Given the description of an element on the screen output the (x, y) to click on. 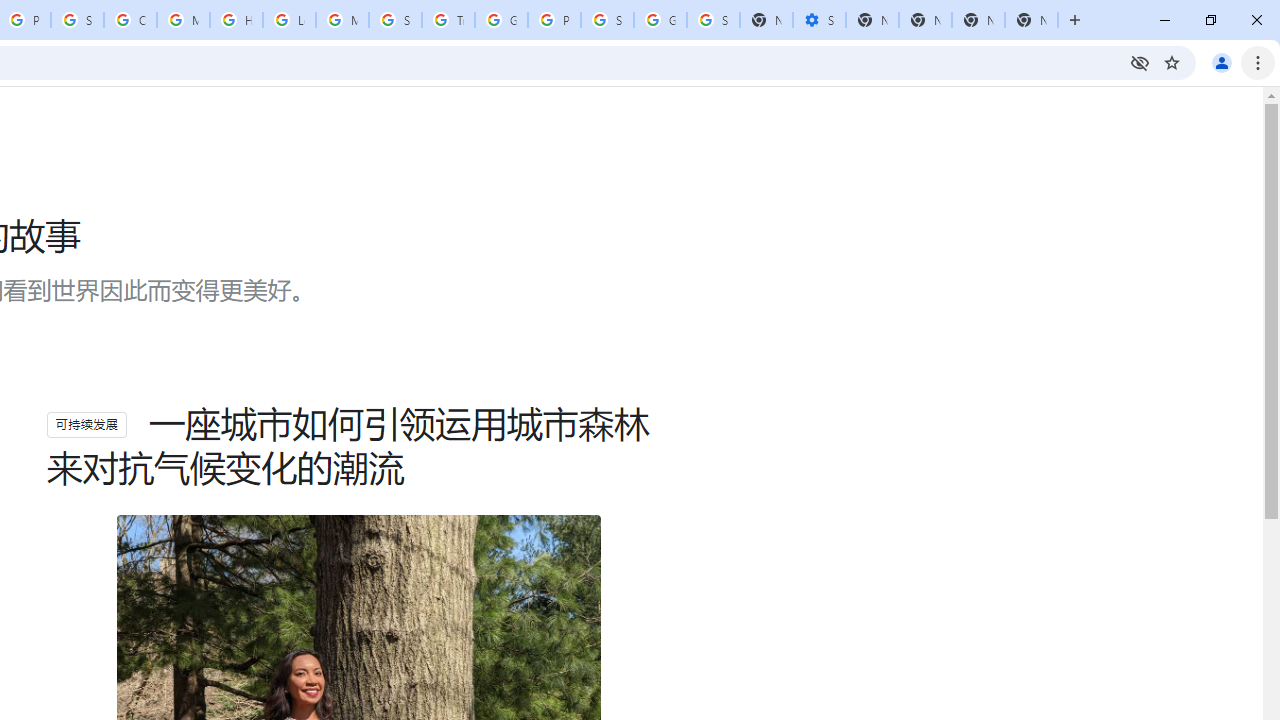
New Tab (1031, 20)
Search our Doodle Library Collection - Google Doodles (395, 20)
Trusted Information and Content - Google Safety Center (448, 20)
Sign in - Google Accounts (77, 20)
